Given the description of an element on the screen output the (x, y) to click on. 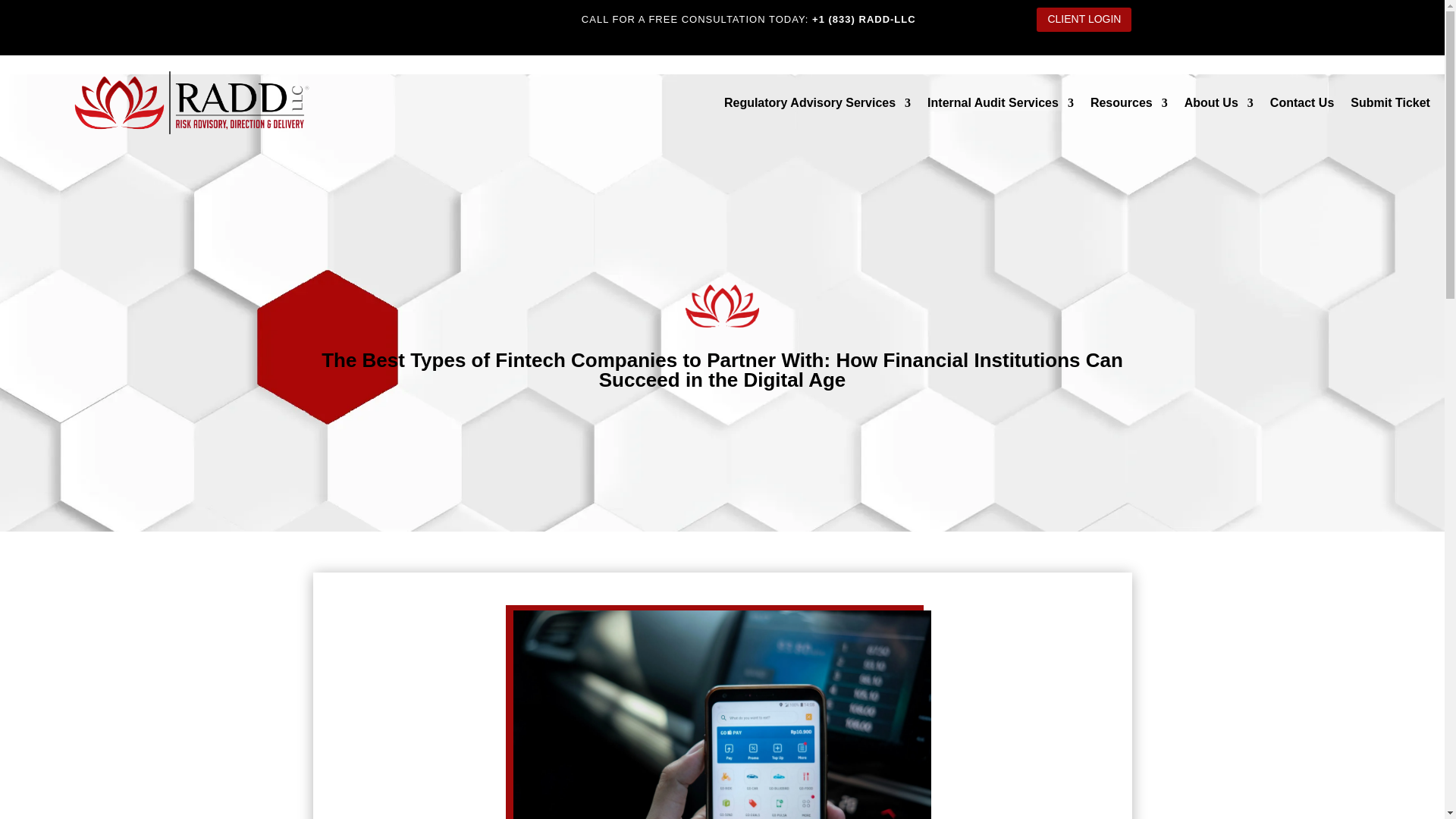
Regulatory Advisory Services (817, 105)
Fintech Company Types to Partner With (722, 714)
CLIENT LOGIN (1083, 19)
radd-llc-icon (721, 306)
Internal Audit Services (1000, 105)
About Us (1219, 105)
Submit Ticket (1390, 105)
Contact Us (1301, 105)
Resources (1128, 105)
